Given the description of an element on the screen output the (x, y) to click on. 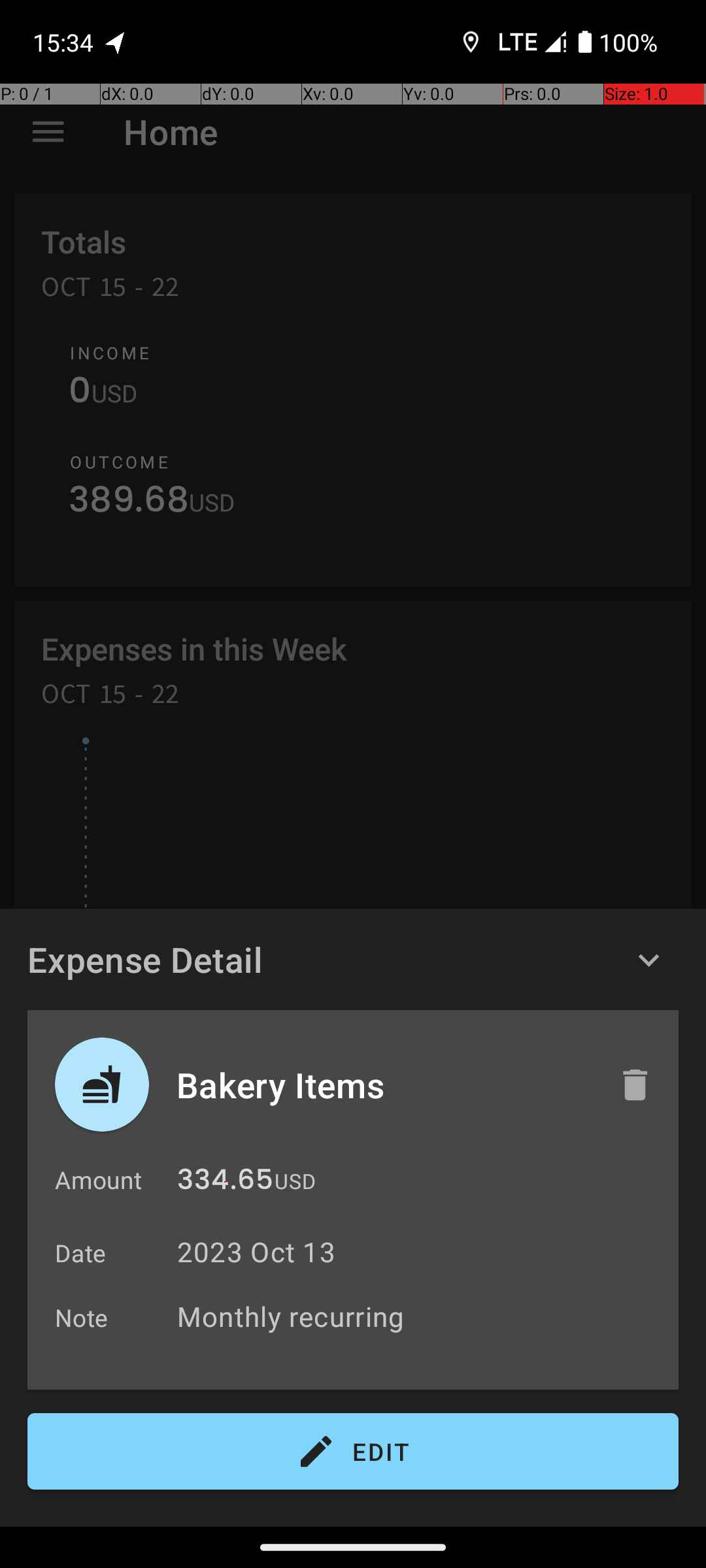
Bakery Items Element type: android.widget.TextView (383, 1084)
334.65 Element type: android.widget.TextView (224, 1182)
Monthly recurring Element type: android.widget.TextView (420, 1315)
OpenTracks notification:  Element type: android.widget.ImageView (115, 41)
